Given the description of an element on the screen output the (x, y) to click on. 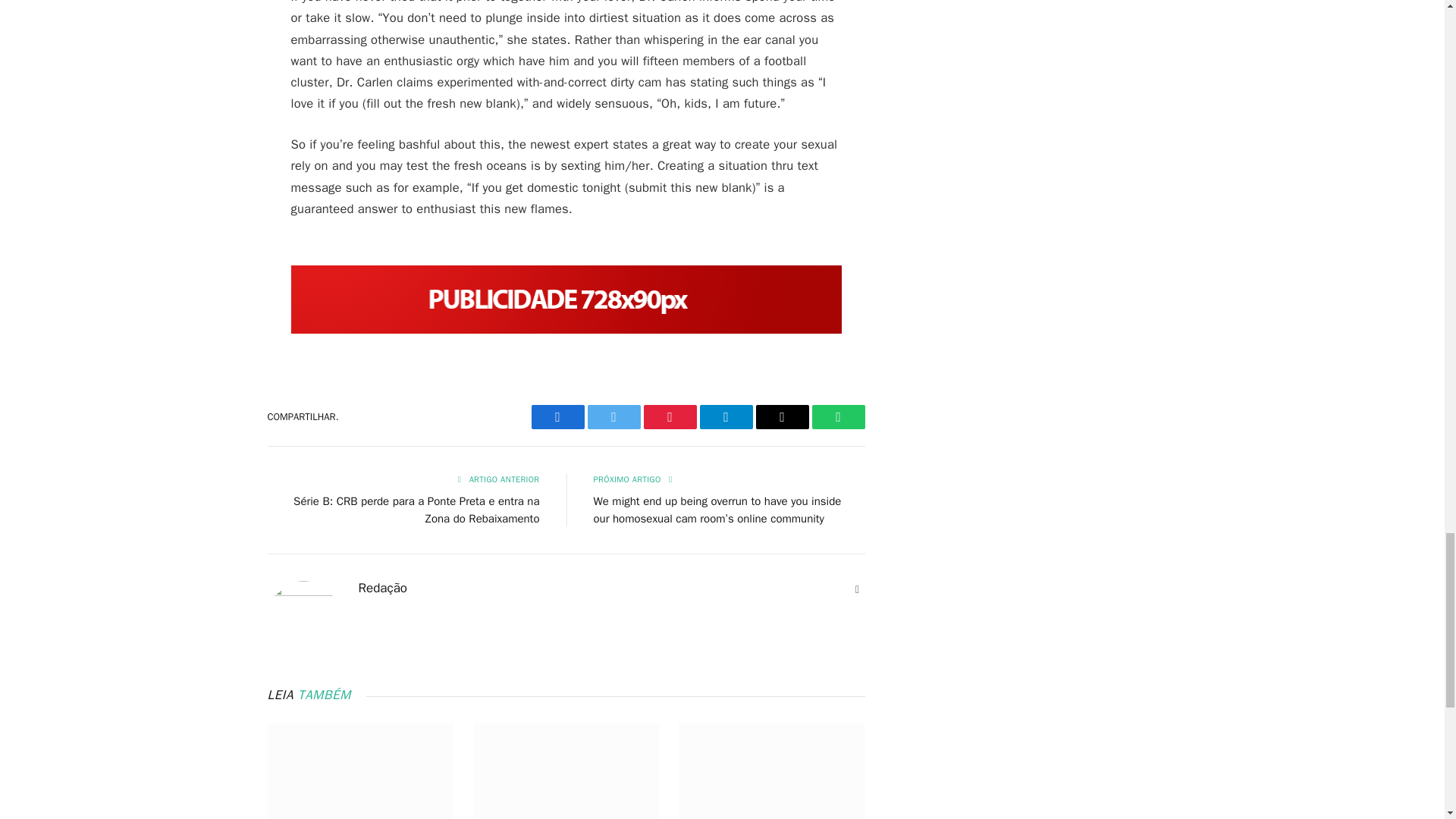
Email (781, 416)
Facebook (557, 416)
WhatsApp (837, 416)
Twitter (613, 416)
Share on WhatsApp (837, 416)
Share on Pinterest (669, 416)
Compartilhar (557, 416)
Pinterest (669, 416)
Telegram (725, 416)
Share on Twitter (613, 416)
Share on Telegram (725, 416)
Website (856, 589)
Share via Email (781, 416)
